Given the description of an element on the screen output the (x, y) to click on. 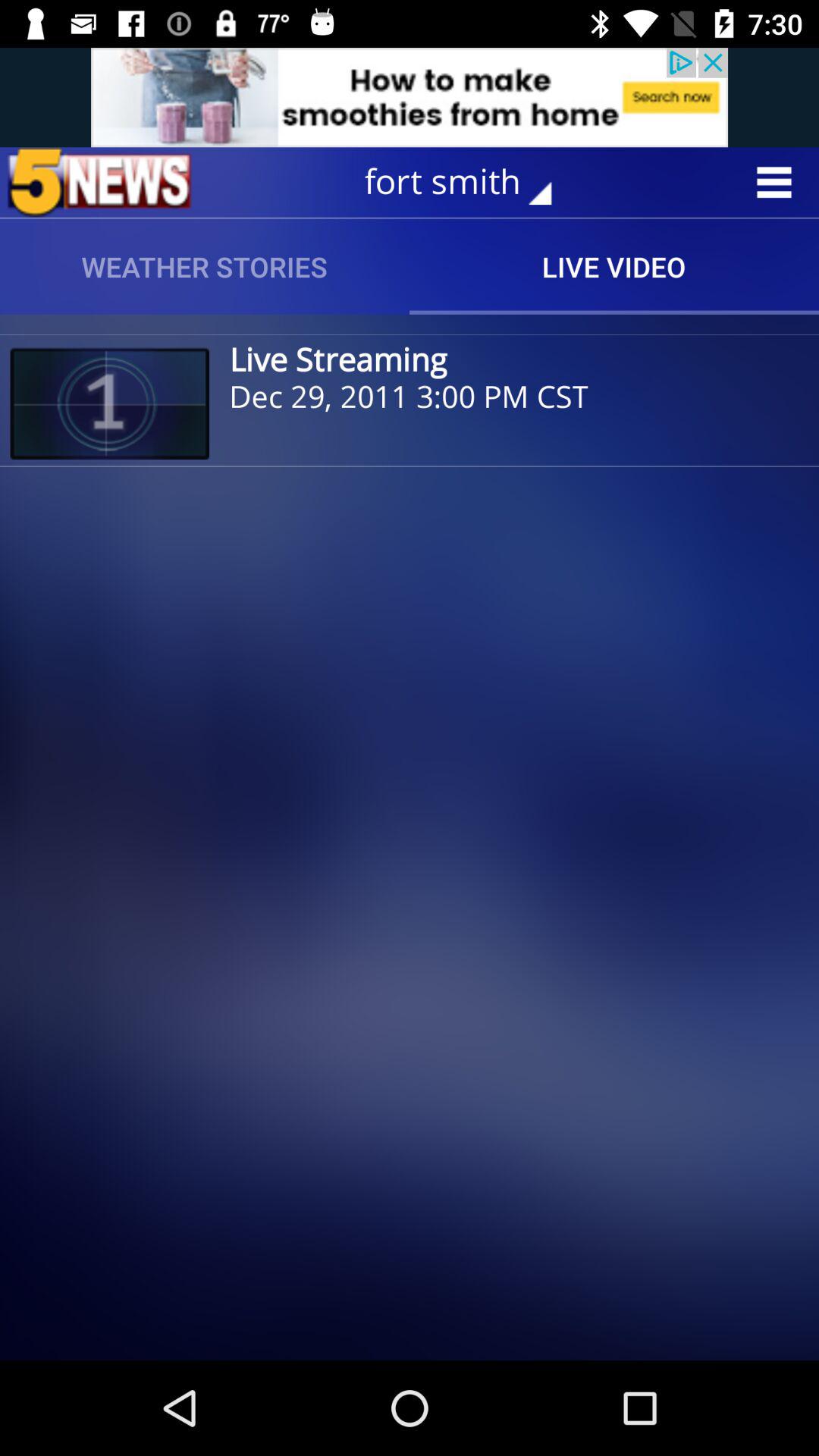
go to homepage (99, 182)
